Given the description of an element on the screen output the (x, y) to click on. 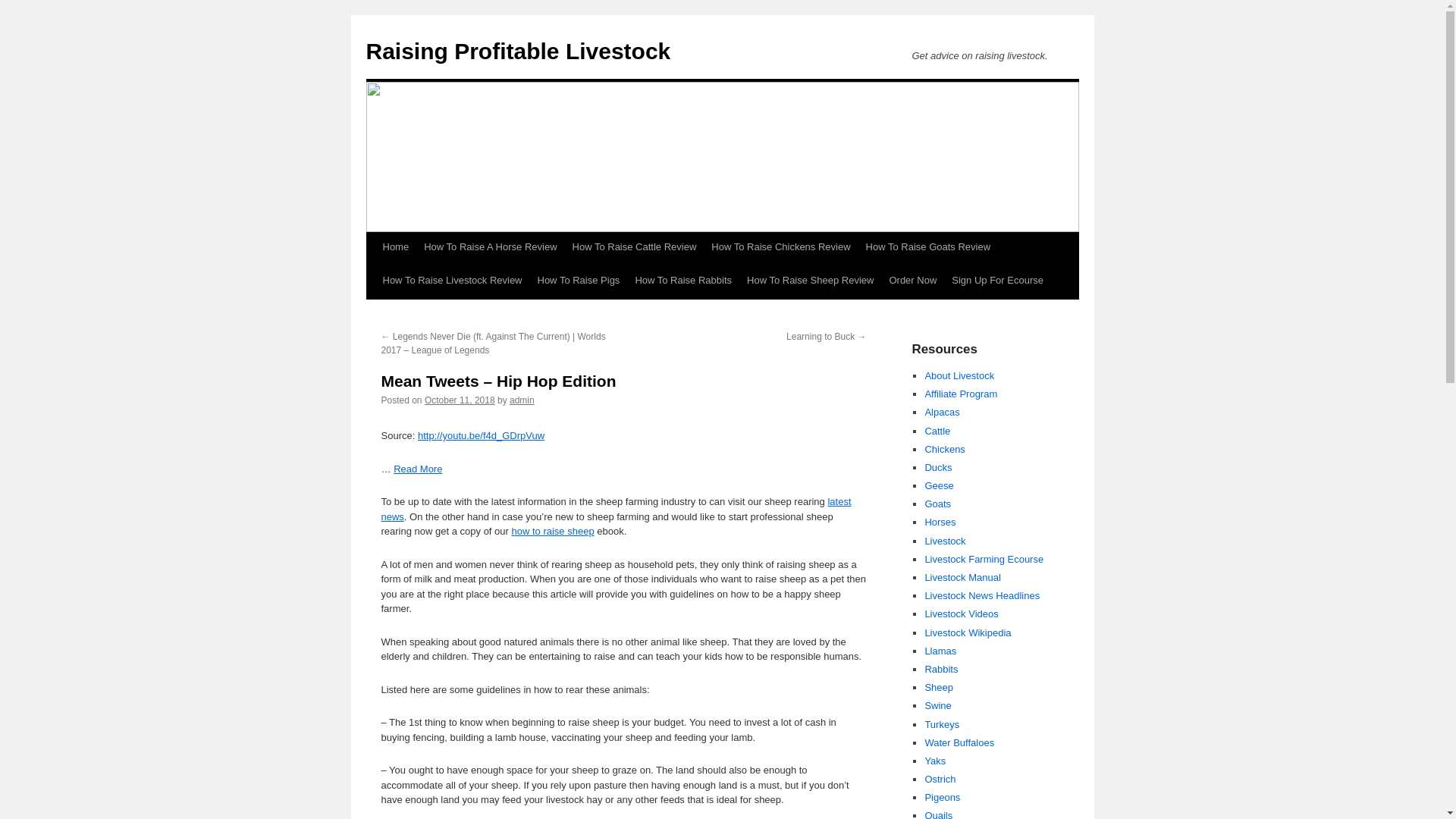
Raising Profitable Livestock (517, 50)
admin (521, 399)
Read More (417, 469)
How To Raise Chickens Review (780, 246)
Order Now (911, 280)
How To Raise Rabbits (683, 280)
Sign Up For Ecourse (997, 280)
how to raise sheep (552, 531)
How To Raise A Horse Review (490, 246)
9:00 am (460, 399)
How To Raise Pigs (578, 280)
How To Raise Livestock Review (451, 280)
How To Raise Goats Review (928, 246)
How To Raise Cattle Review (634, 246)
Skip to content (372, 274)
